Given the description of an element on the screen output the (x, y) to click on. 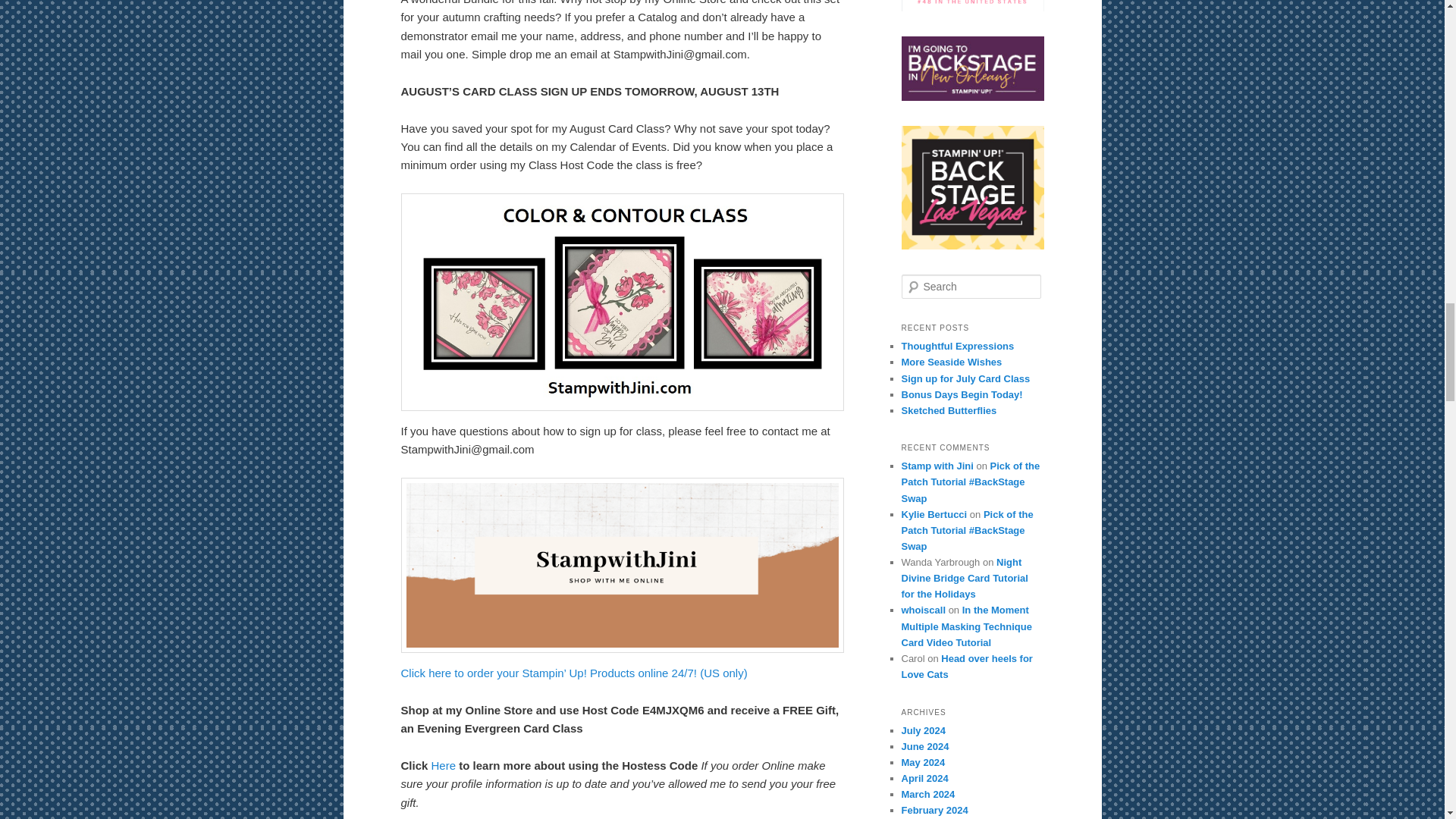
2020 Experience Creativity Brochure (972, 187)
